Given the description of an element on the screen output the (x, y) to click on. 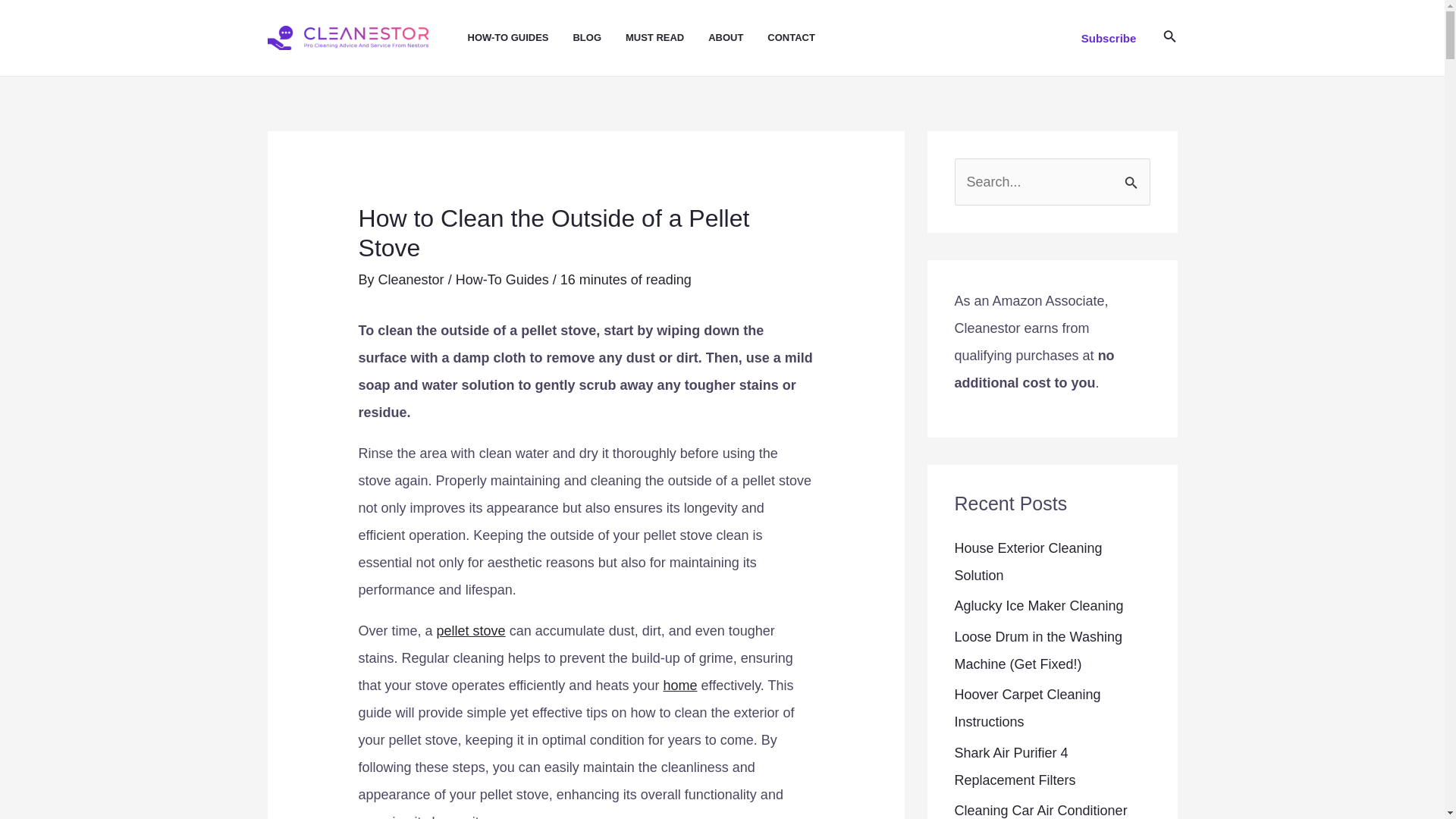
Subscribe (1109, 37)
Cleanestor (413, 279)
Search (1133, 174)
MUST READ (666, 38)
pellet stove (470, 630)
home (679, 685)
pellet stove (470, 630)
View all posts by Cleanestor (413, 279)
Search (1133, 174)
CONTACT (803, 38)
